Given the description of an element on the screen output the (x, y) to click on. 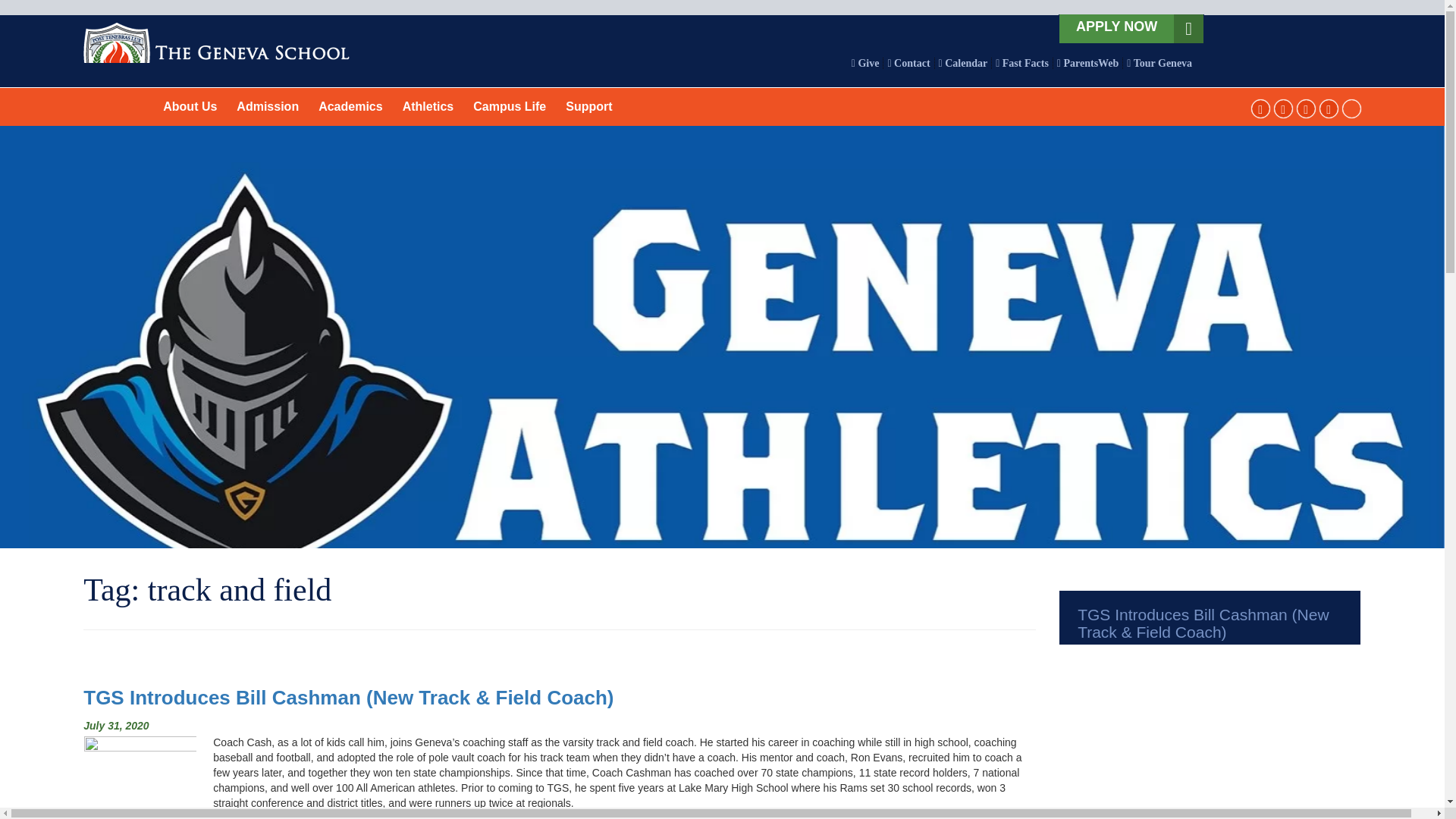
Admission (267, 106)
About Us (189, 106)
YouTube (1330, 108)
YouTube (1330, 108)
Instagram (1285, 108)
Tour Geneva (1157, 62)
APPLY NOW (1116, 26)
Calendar (963, 62)
Instagram (1285, 108)
Campus Life (509, 106)
